Given the description of an element on the screen output the (x, y) to click on. 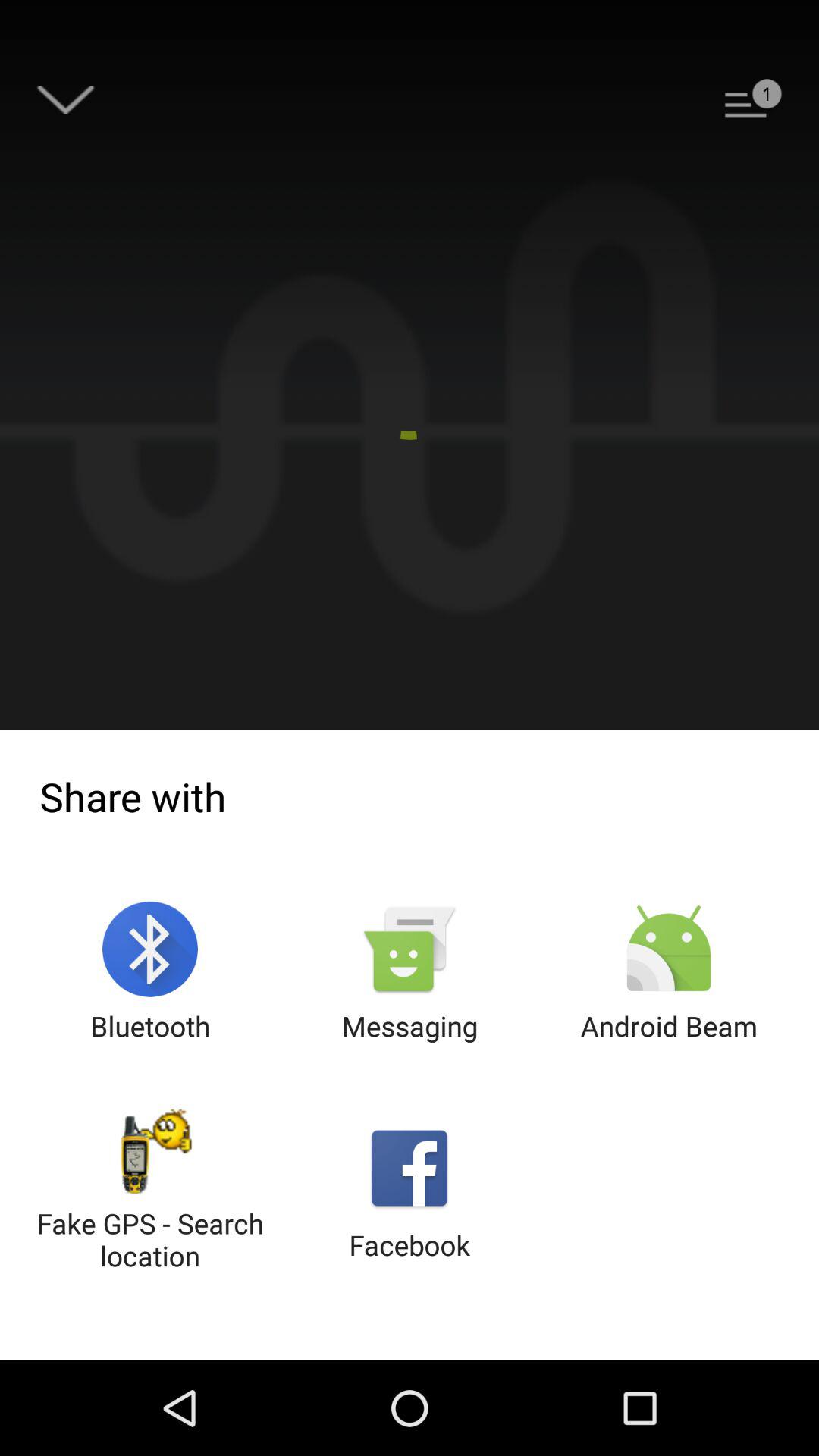
swipe to the bluetooth icon (150, 972)
